Given the description of an element on the screen output the (x, y) to click on. 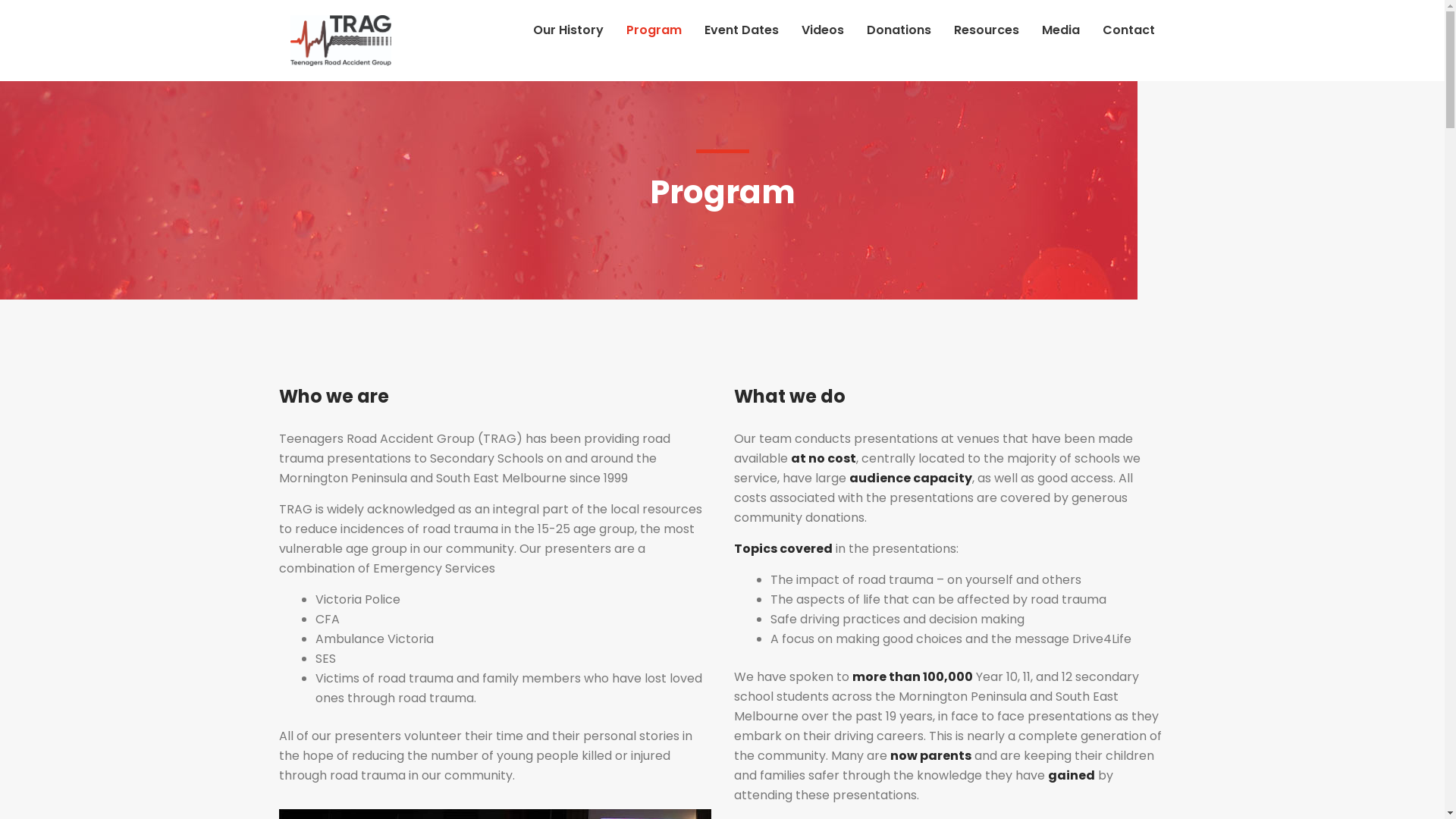
Resources Element type: text (986, 30)
Contact Element type: text (1128, 30)
Event Dates Element type: text (740, 30)
Media Element type: text (1060, 30)
Donations Element type: text (898, 30)
Videos Element type: text (821, 30)
Our History Element type: text (567, 30)
Program Element type: text (653, 30)
